Given the description of an element on the screen output the (x, y) to click on. 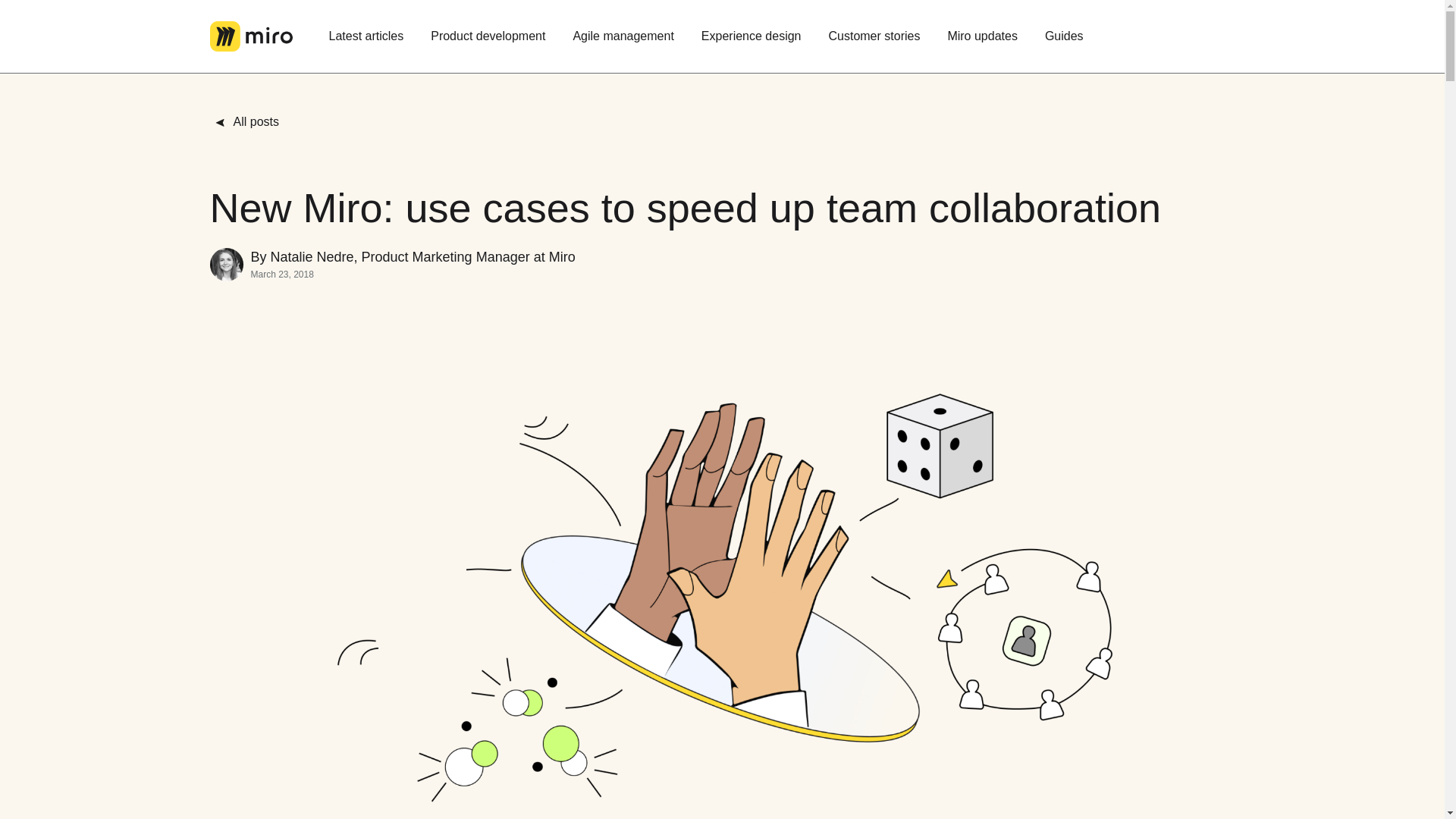
Experience design (750, 36)
Agile management (622, 36)
Product development (488, 36)
Latest articles (366, 36)
Miro updates (981, 36)
All posts (251, 122)
Customer stories (873, 36)
Guides (1064, 36)
